Given the description of an element on the screen output the (x, y) to click on. 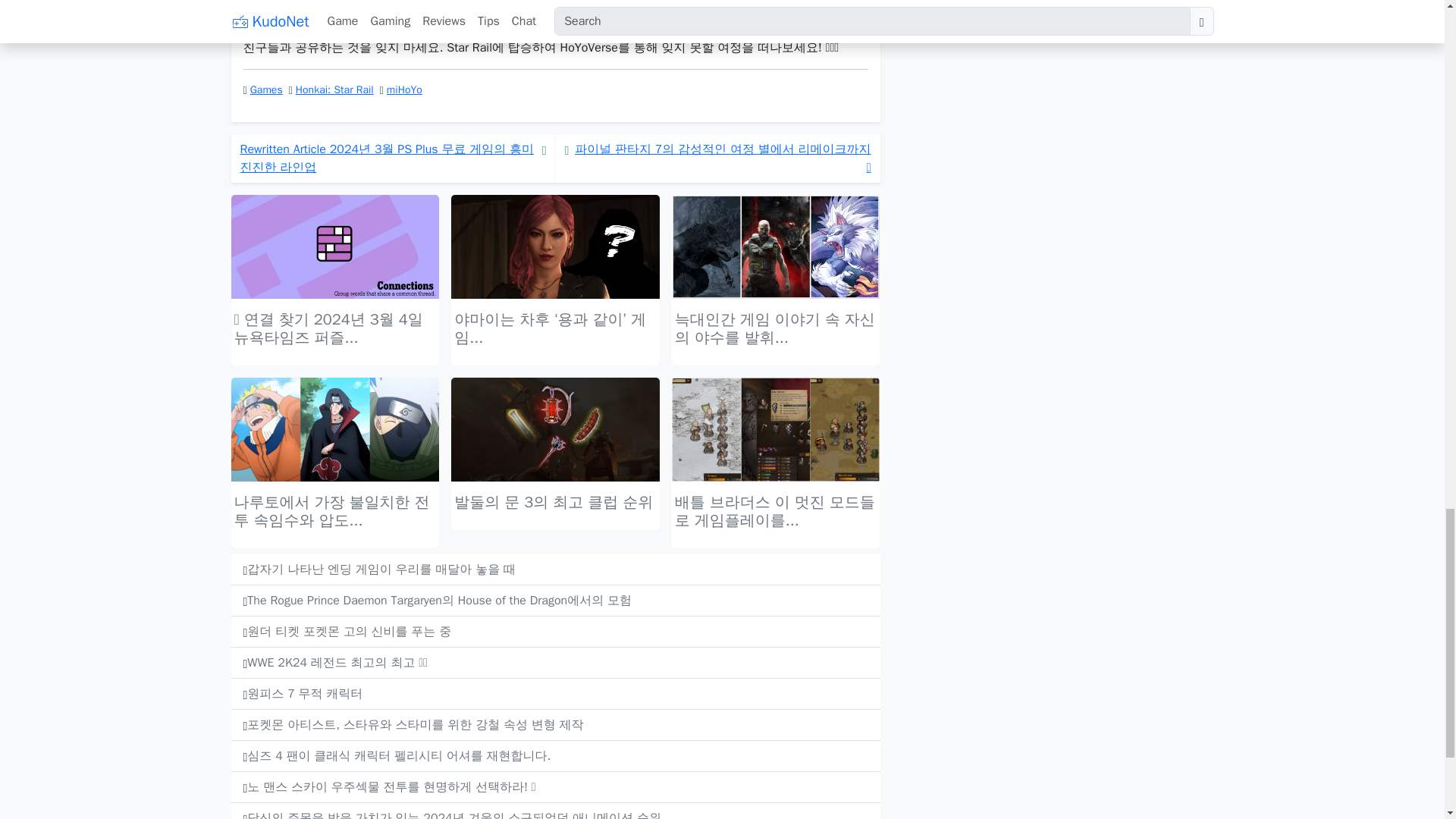
Games (266, 89)
Honkai: Star Rail (334, 89)
miHoYo (404, 89)
